Given the description of an element on the screen output the (x, y) to click on. 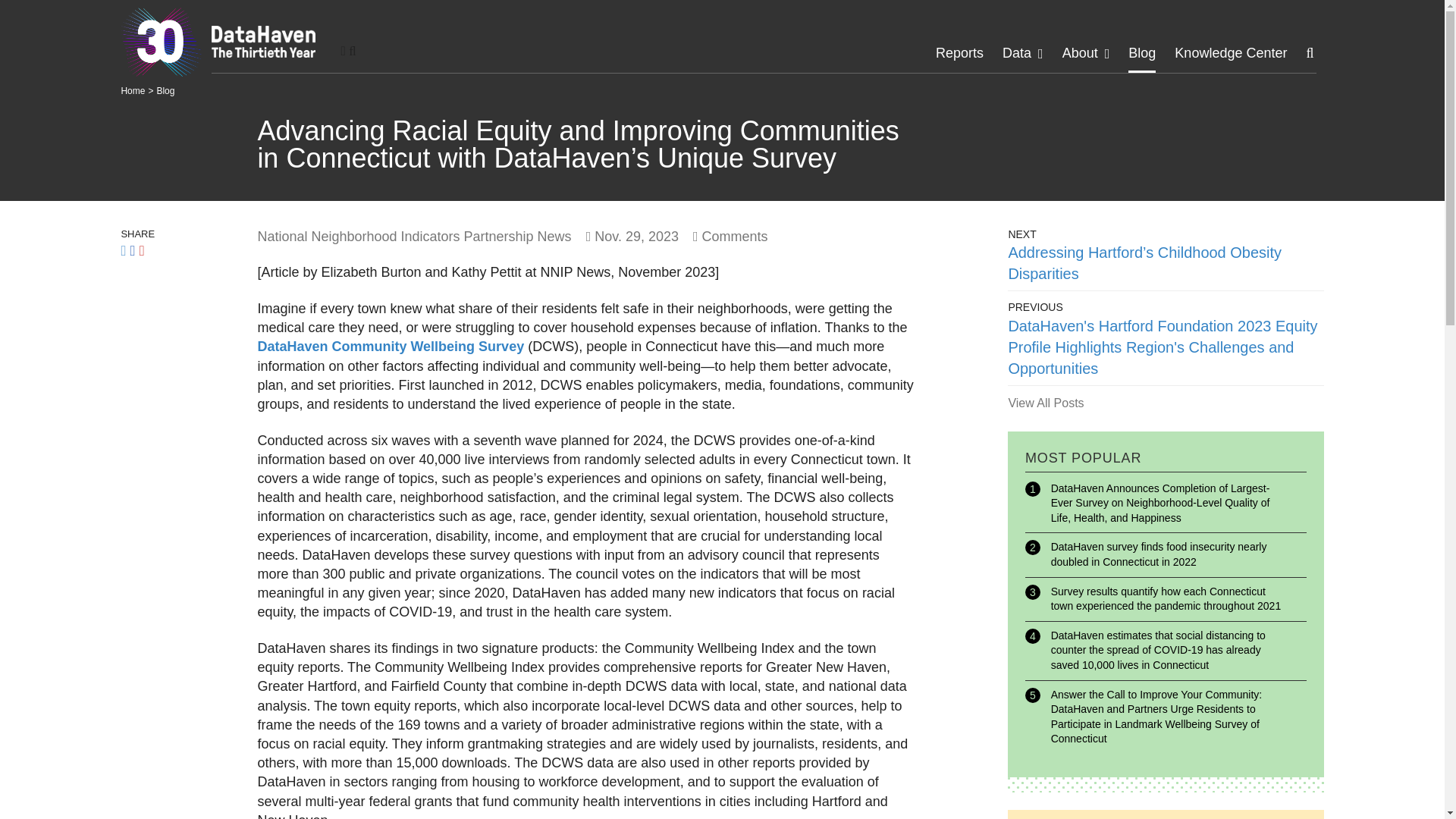
Data (1016, 52)
Knowledge Center (1230, 52)
Home (132, 90)
Reports (960, 52)
About (1079, 52)
Blog (1142, 52)
Blog (164, 90)
